Given the description of an element on the screen output the (x, y) to click on. 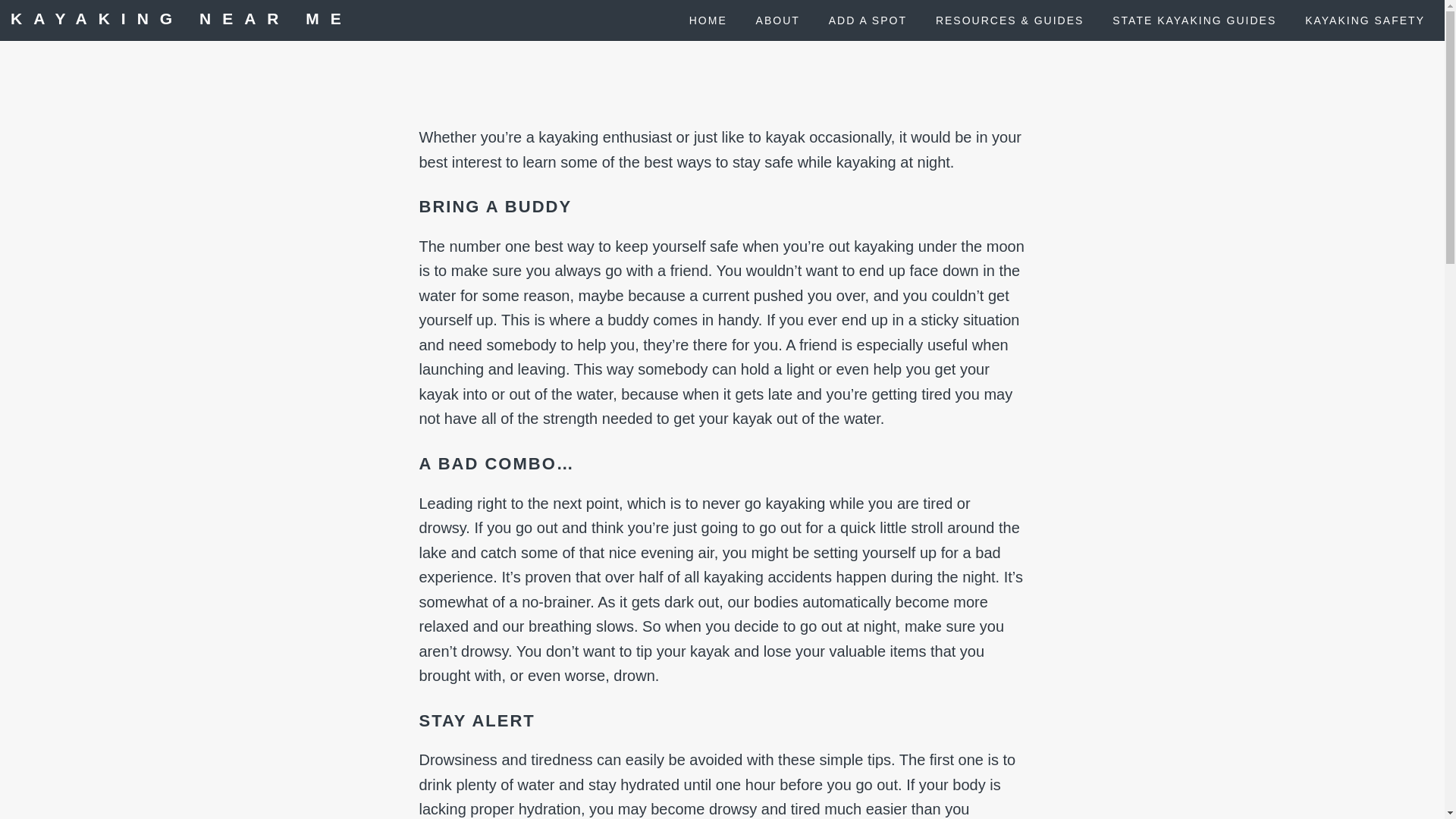
ADD A SPOT (867, 20)
ABOUT (778, 20)
STATE KAYAKING GUIDES (1194, 20)
HOME (708, 20)
KAYAKING NEAR ME (181, 18)
KAYAKING SAFETY (1364, 20)
